Given the description of an element on the screen output the (x, y) to click on. 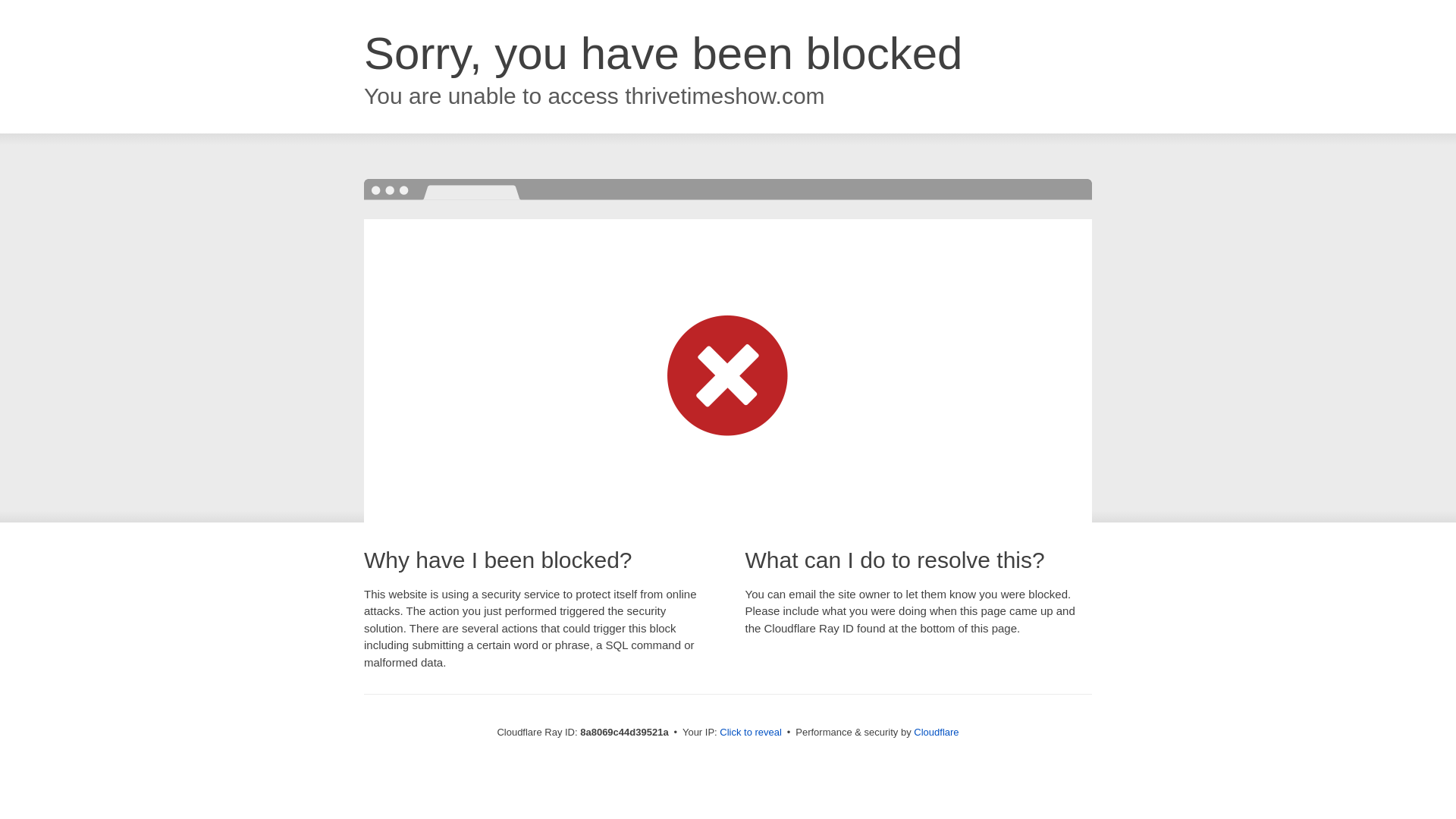
Cloudflare (936, 731)
Click to reveal (750, 732)
